Given the description of an element on the screen output the (x, y) to click on. 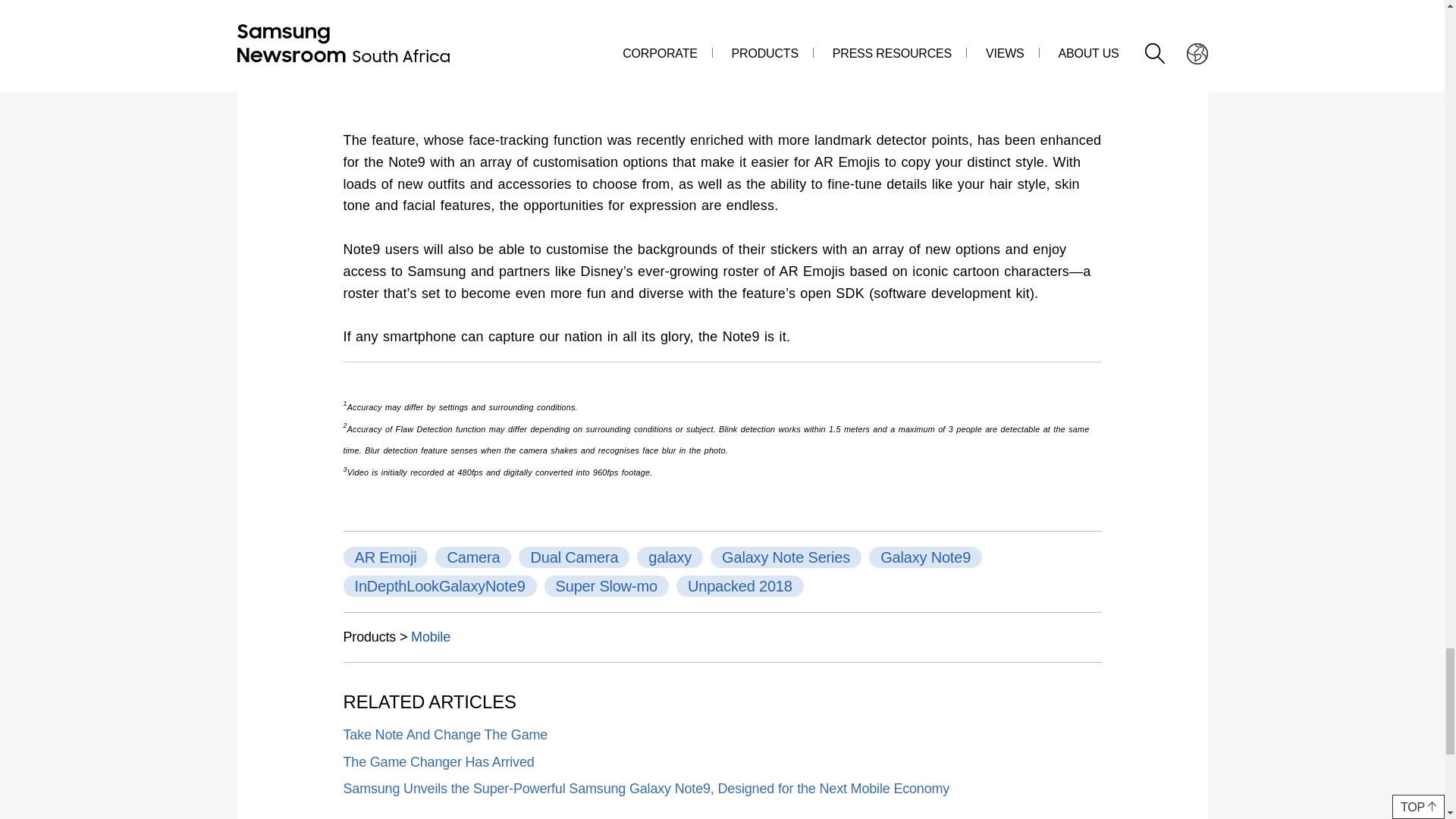
New window opens (438, 761)
New window opens (645, 788)
New window opens (444, 734)
